Given the description of an element on the screen output the (x, y) to click on. 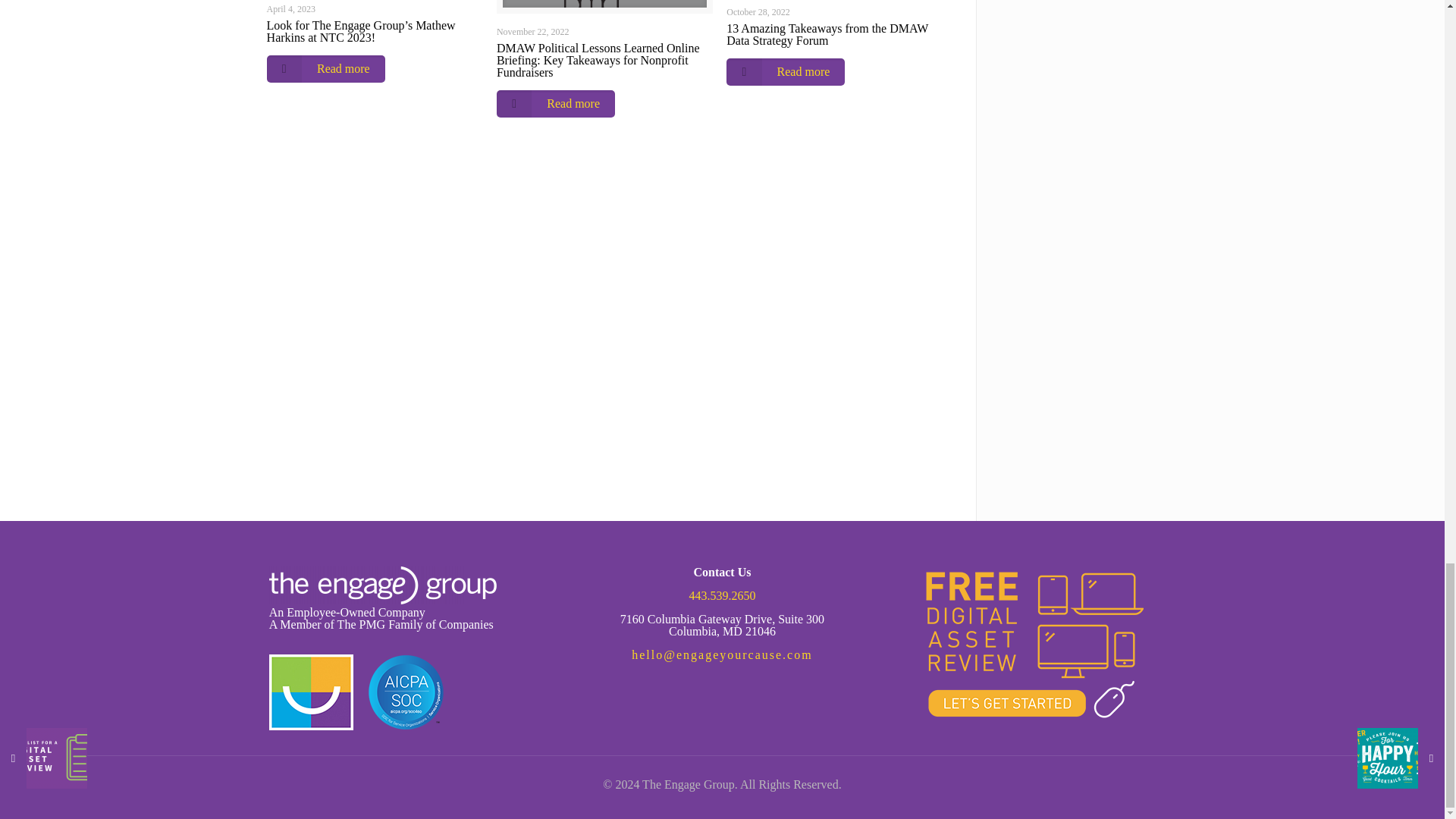
13 Amazing Takeaways from the DMAW Data Strategy Forum (827, 34)
Read more (555, 103)
Read more (325, 68)
Read more (785, 71)
